Given the description of an element on the screen output the (x, y) to click on. 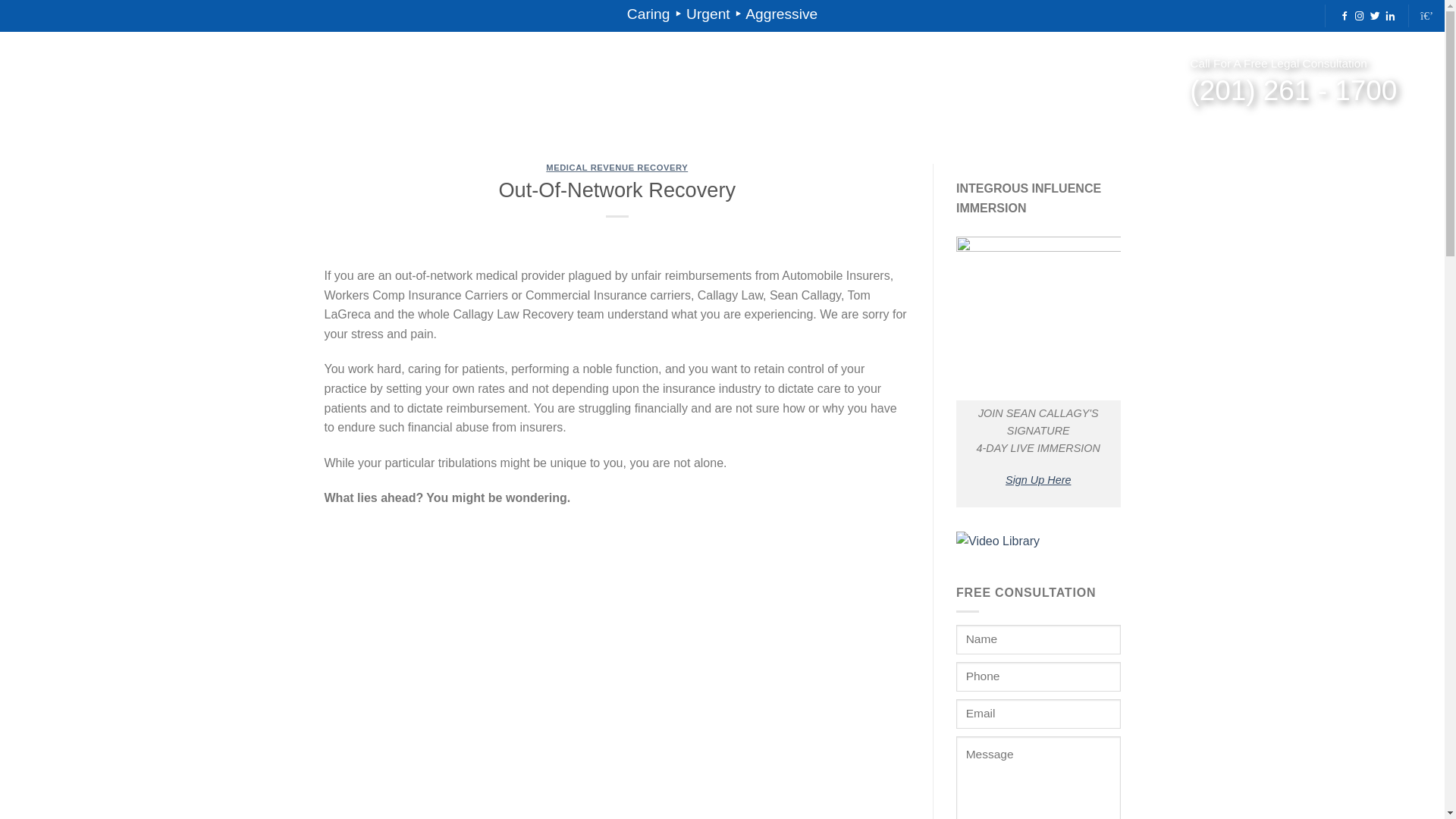
Other Practice Areas (398, 86)
Medical Revenue Recovery (246, 86)
